Given the description of an element on the screen output the (x, y) to click on. 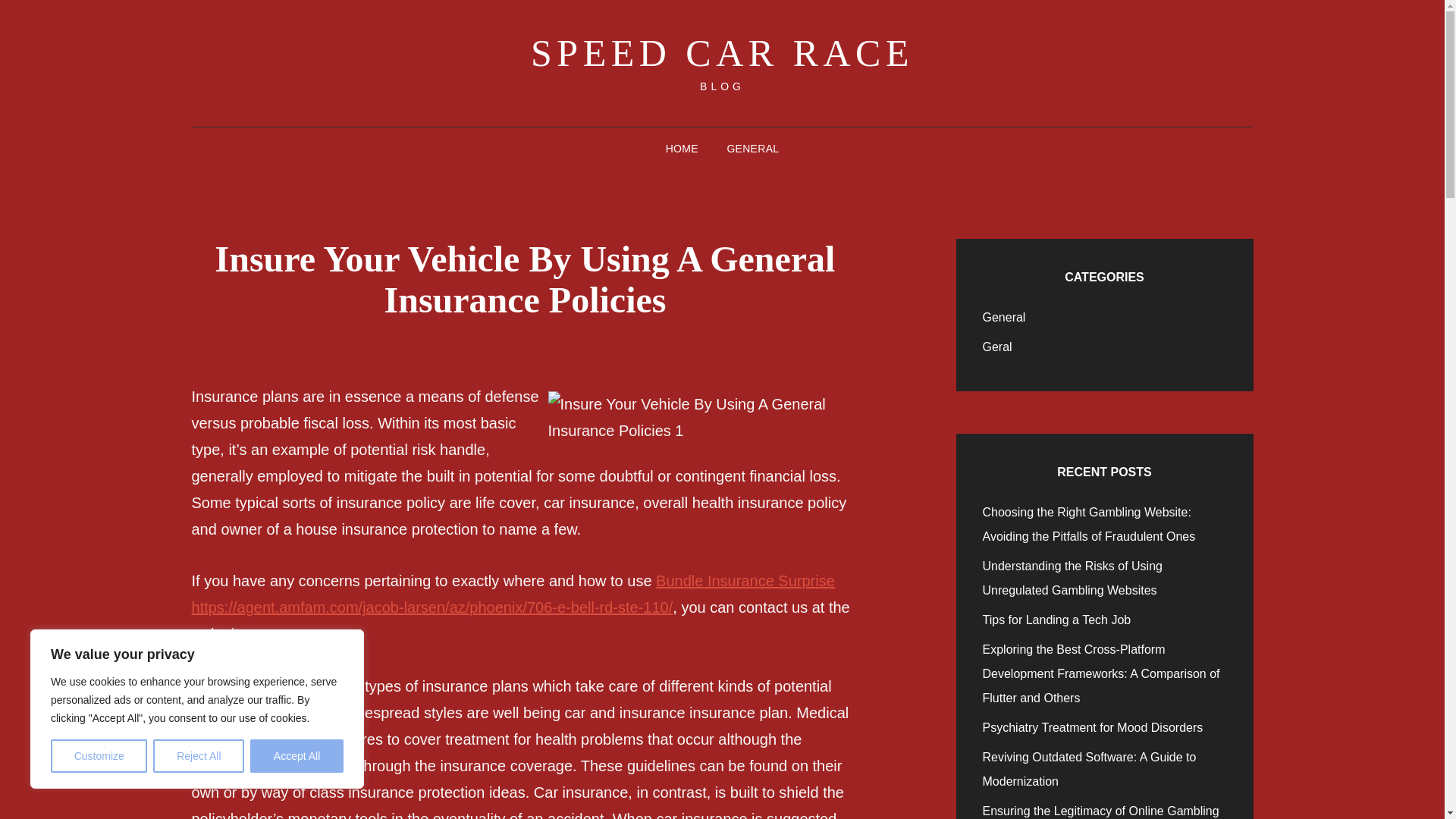
Psychiatry Treatment for Mood Disorders (1093, 727)
Tips for Landing a Tech Job (1056, 619)
HOME (681, 148)
SPEED CAR RACE (722, 52)
Geral (996, 346)
Accept All (296, 756)
Reject All (198, 756)
Customize (98, 756)
GENERAL (752, 148)
Reviving Outdated Software: A Guide to Modernization (1089, 769)
General (1004, 317)
